Given the description of an element on the screen output the (x, y) to click on. 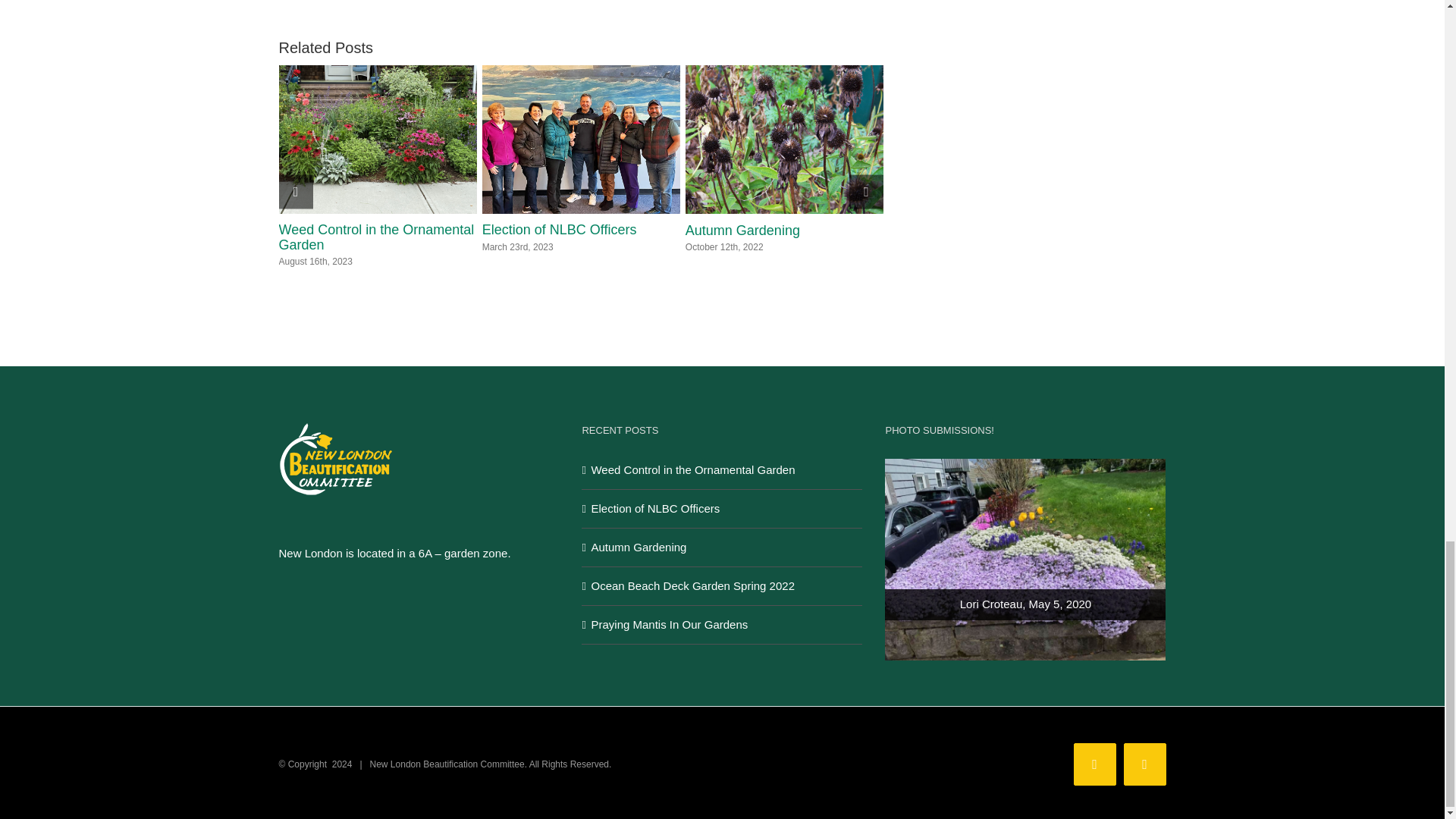
Weed Control in the Ornamental Garden (376, 236)
Election of NLBC Officers (559, 229)
Autumn Gardening (742, 230)
